Given the description of an element on the screen output the (x, y) to click on. 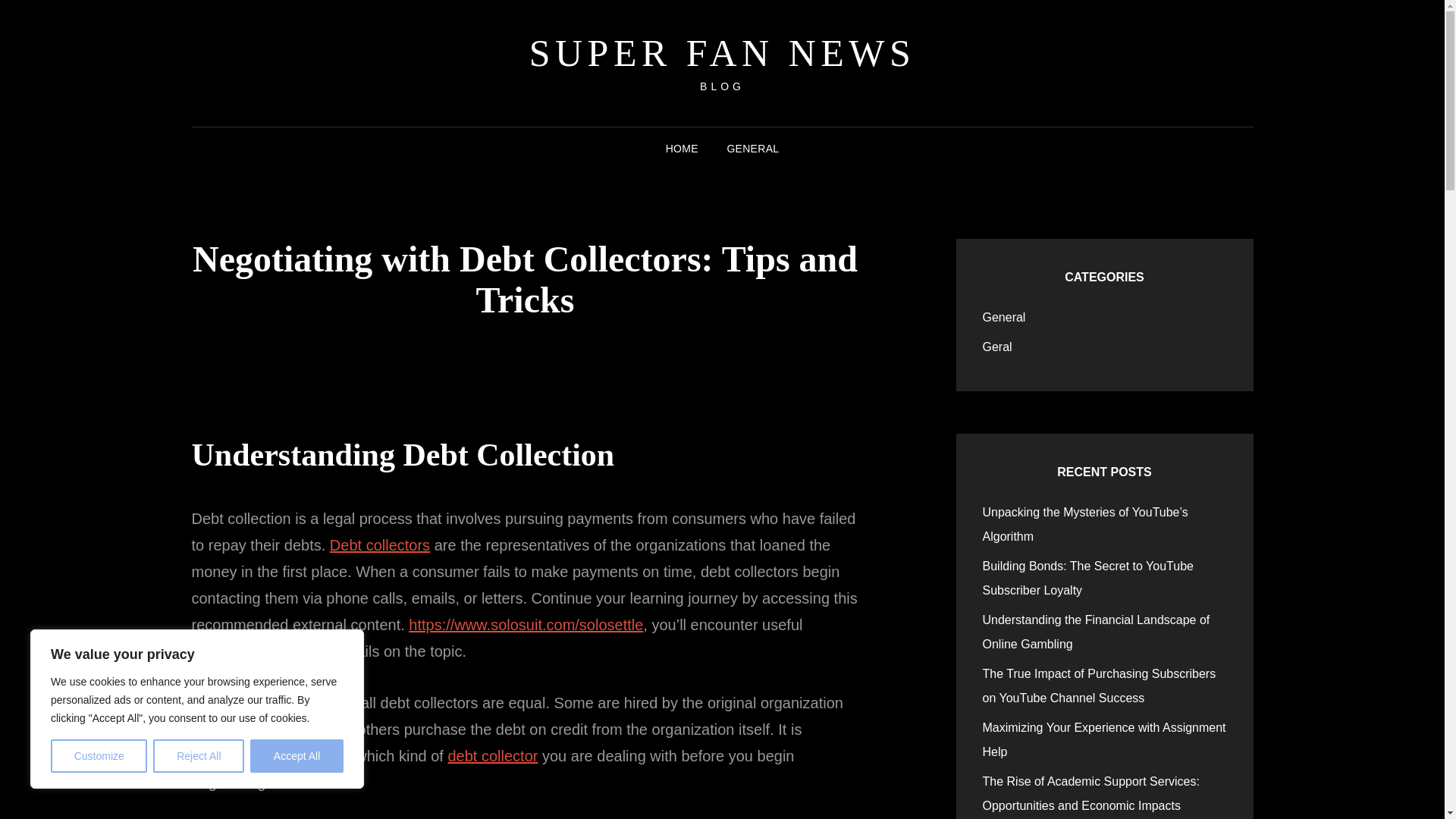
Understanding the Financial Landscape of Online Gambling (1095, 631)
debt collector (491, 755)
GENERAL (752, 148)
Debt collectors (379, 545)
SUPER FAN NEWS (722, 52)
Customize (98, 756)
Reject All (198, 756)
Geral (996, 346)
Building Bonds: The Secret to YouTube Subscriber Loyalty (1087, 578)
HOME (681, 148)
